Given the description of an element on the screen output the (x, y) to click on. 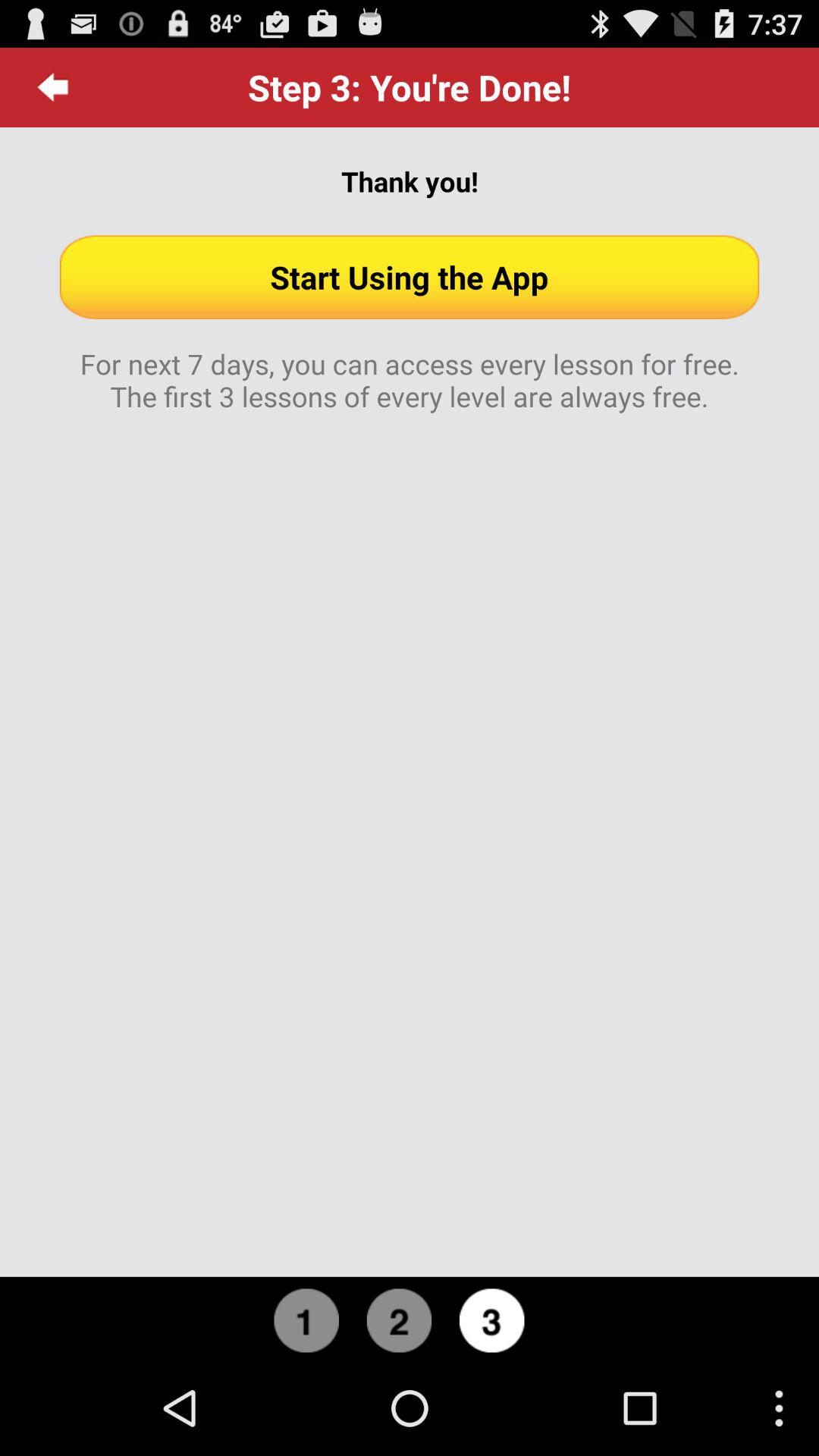
turn on the item above for next 7 item (409, 277)
